Given the description of an element on the screen output the (x, y) to click on. 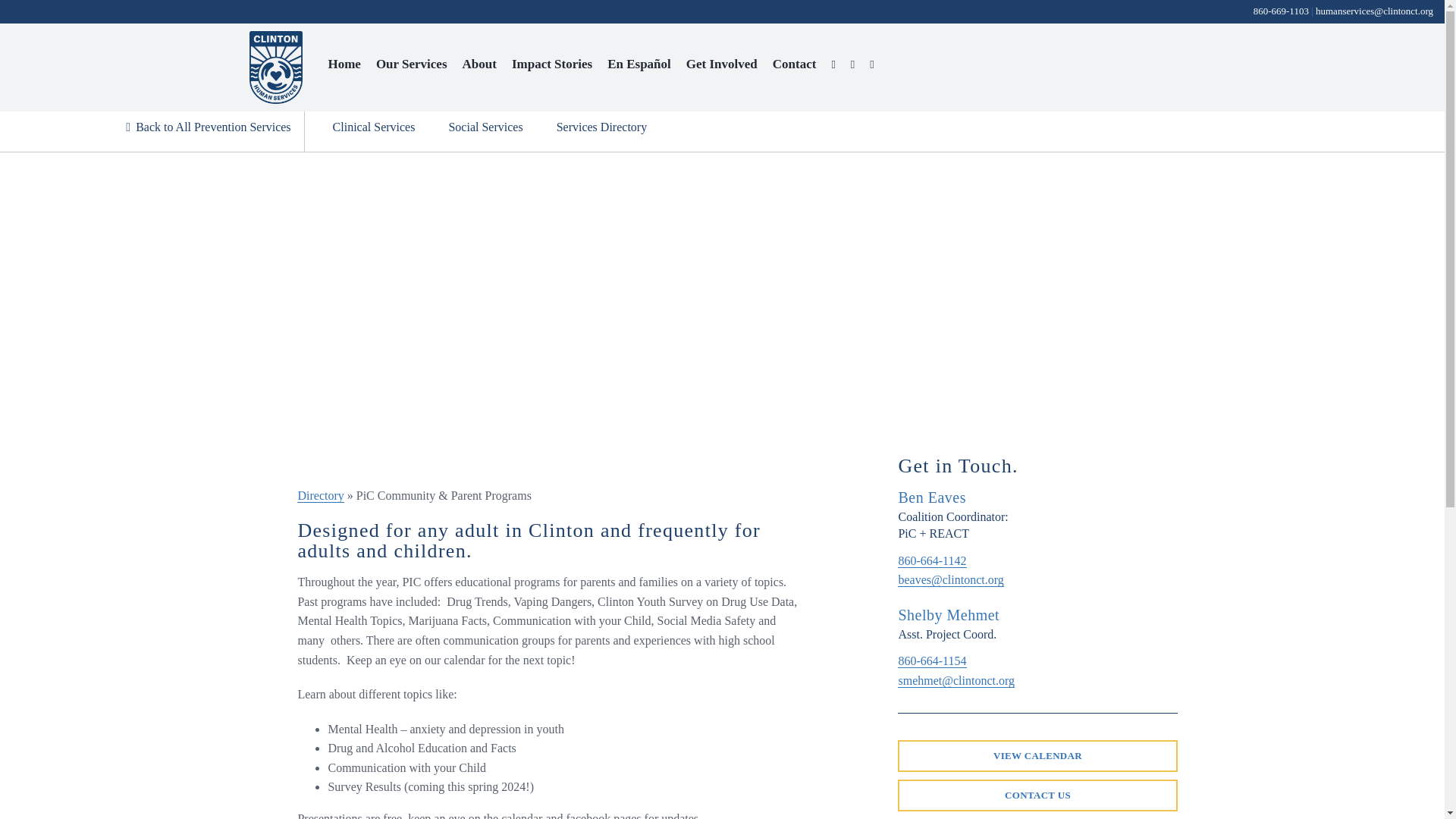
Our Services (411, 64)
Home (344, 64)
Impact Stories (551, 64)
860-669-1103 (1280, 10)
About (478, 64)
